Given the description of an element on the screen output the (x, y) to click on. 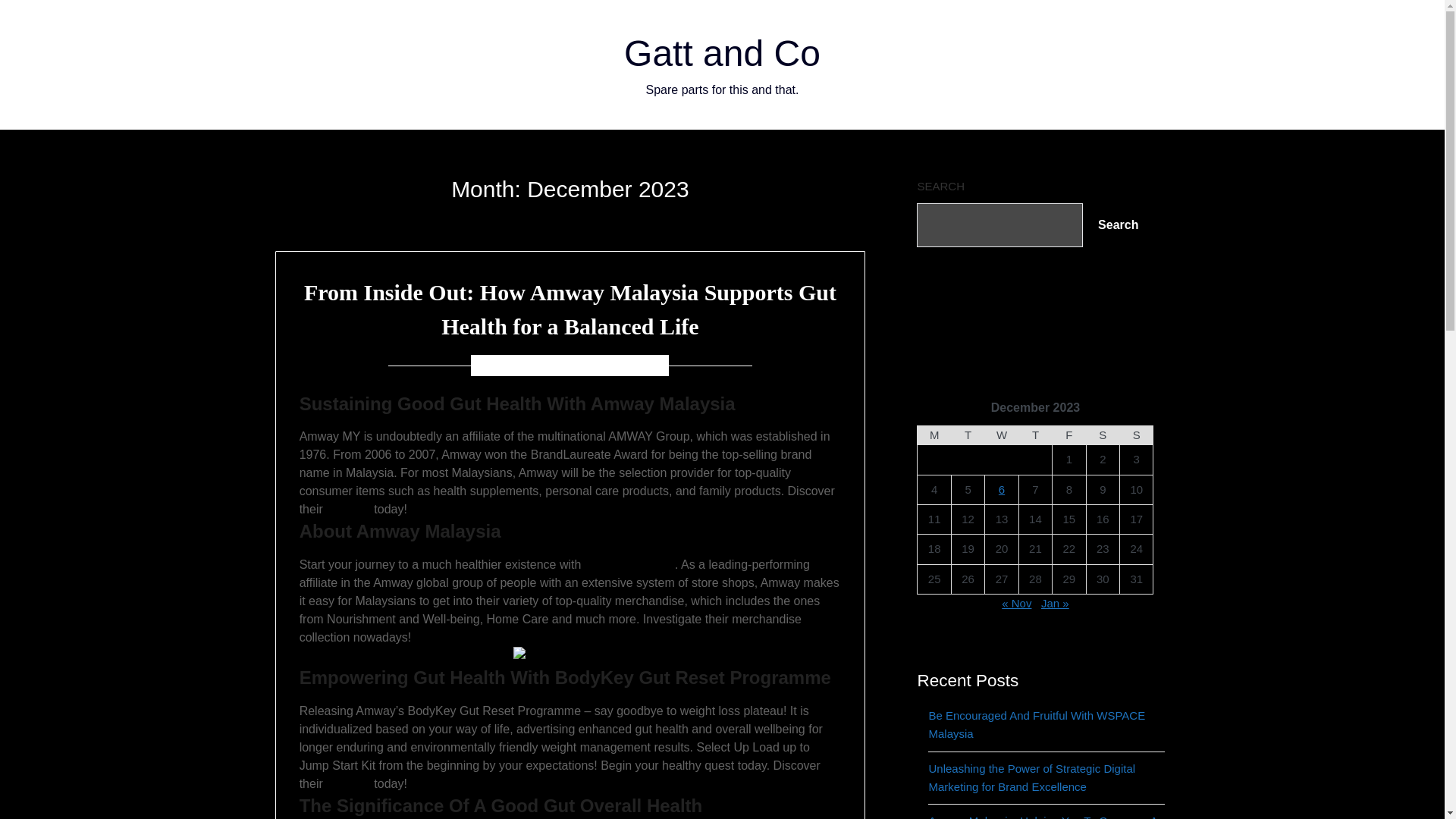
Be Encouraged And Fruitful With WSPACE Malaysia (1036, 724)
Amway Malaysia (629, 563)
Sunday (1136, 434)
vitamins (348, 508)
December 6, 2023 (600, 364)
Tuesday (967, 434)
Gatt and Co (722, 53)
Search (1118, 225)
Amway Malaysia: Helping You To Conserve A Healthful Gut (1042, 816)
Monday (933, 434)
Friday (1069, 434)
Wednesday (1001, 434)
Saturday (1102, 434)
